Given the description of an element on the screen output the (x, y) to click on. 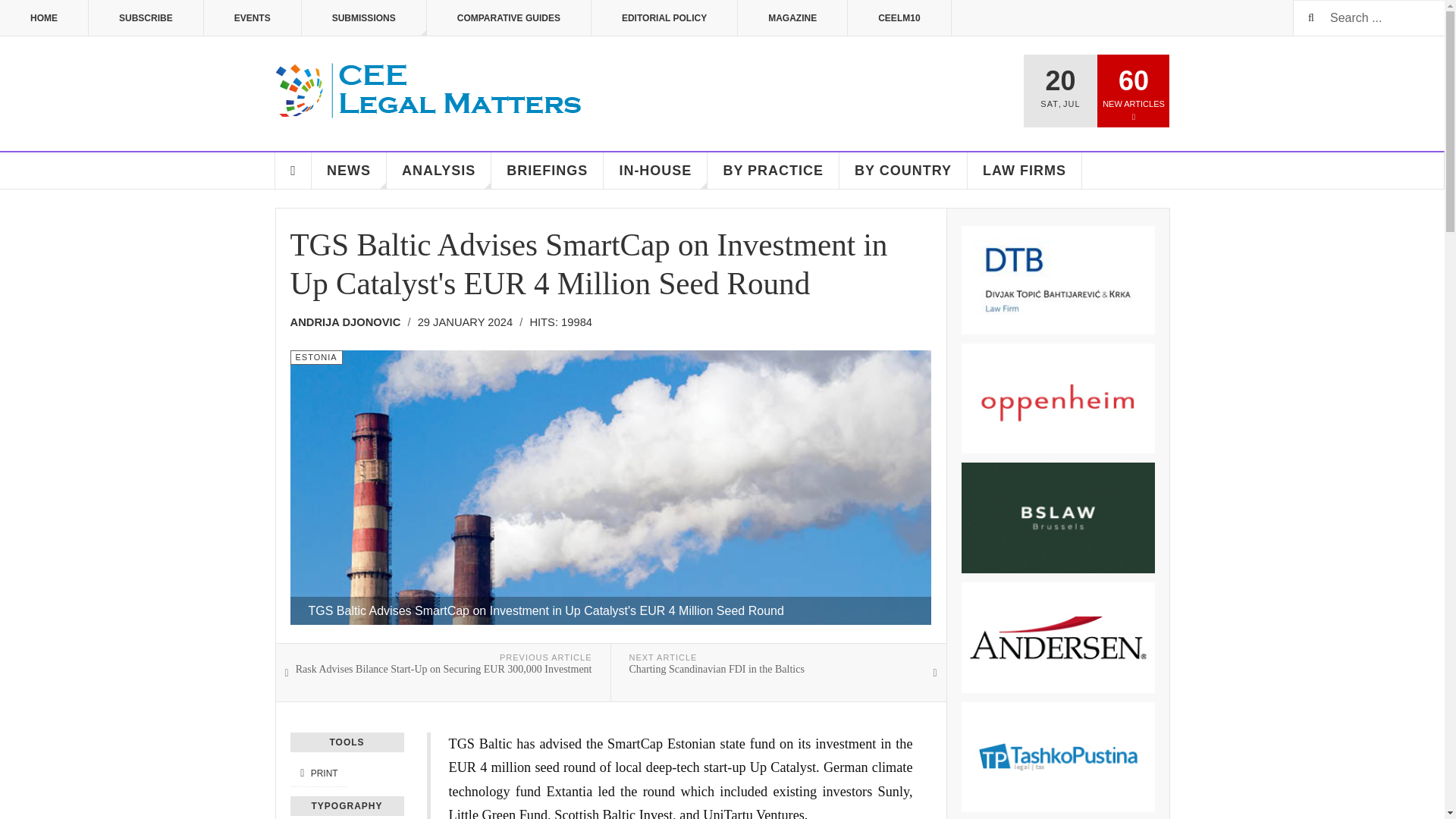
SUBMISSIONS (363, 18)
CEE Legal Matters (429, 90)
EVENTS (252, 18)
NEWS (349, 170)
CEELM10 (898, 18)
HOME (44, 18)
SUBSCRIBE (145, 18)
EDITORIAL POLICY (664, 18)
HOME (293, 170)
COMPARATIVE GUIDES (508, 18)
MAGAZINE (792, 18)
